Given the description of an element on the screen output the (x, y) to click on. 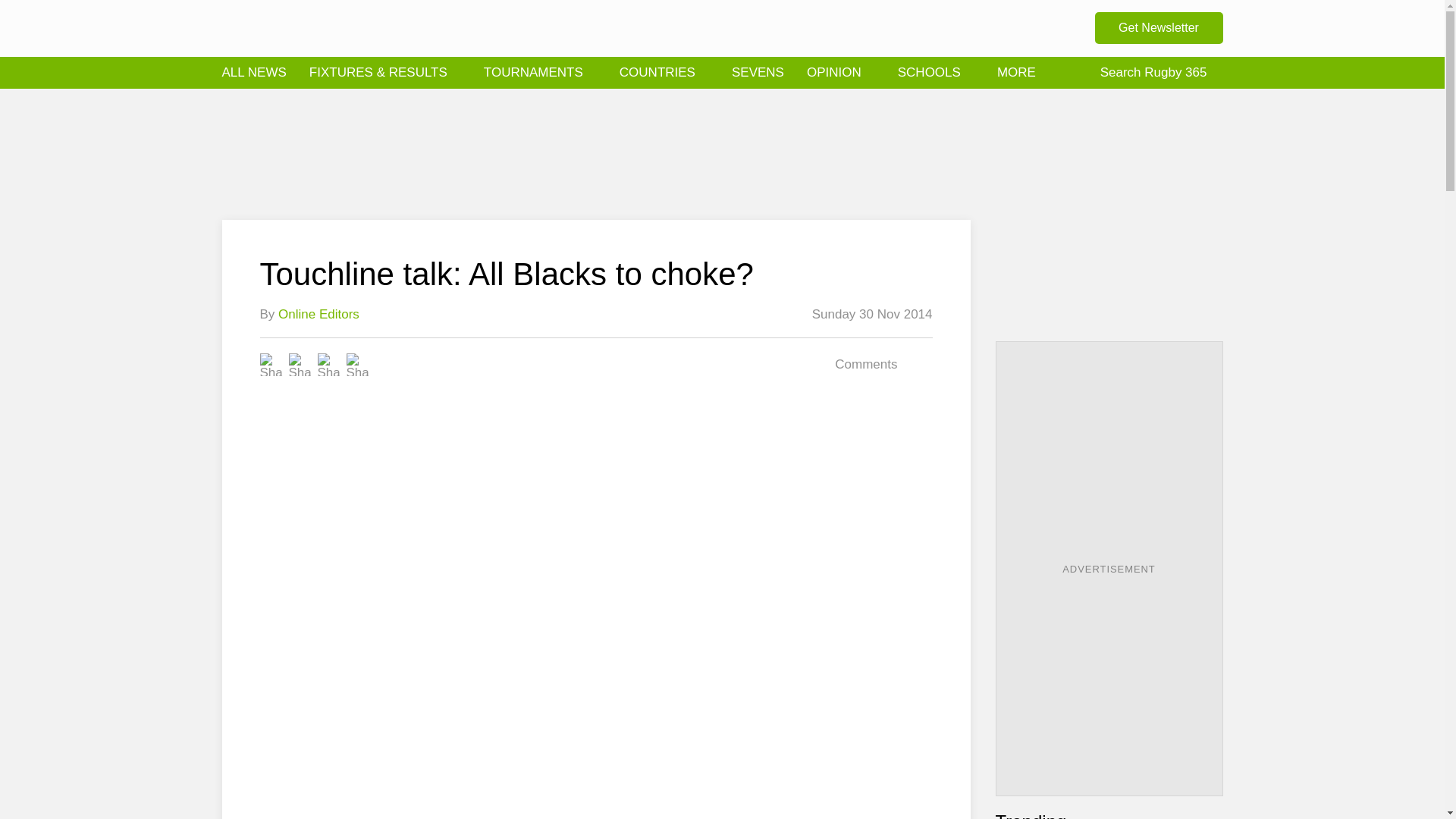
SEVENS (758, 72)
ALL NEWS (253, 72)
Get Newsletter (1158, 28)
